Given the description of an element on the screen output the (x, y) to click on. 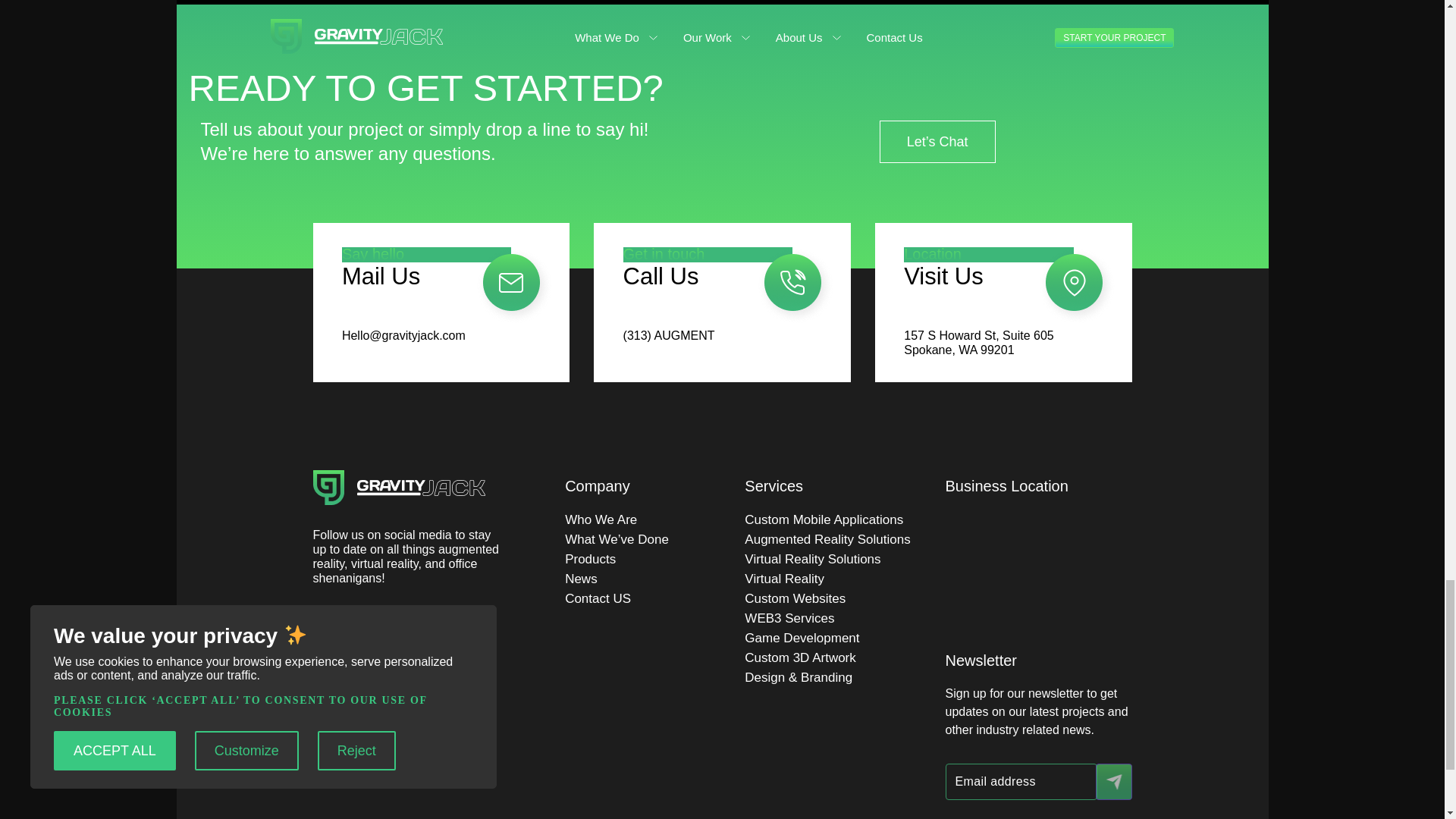
Subscribe (1112, 781)
Follow on Facebook (323, 626)
Follow on LinkedIn (414, 626)
Follow on Twitter (384, 626)
Follow on Youtube (445, 626)
Follow on Instagram (353, 626)
